Given the description of an element on the screen output the (x, y) to click on. 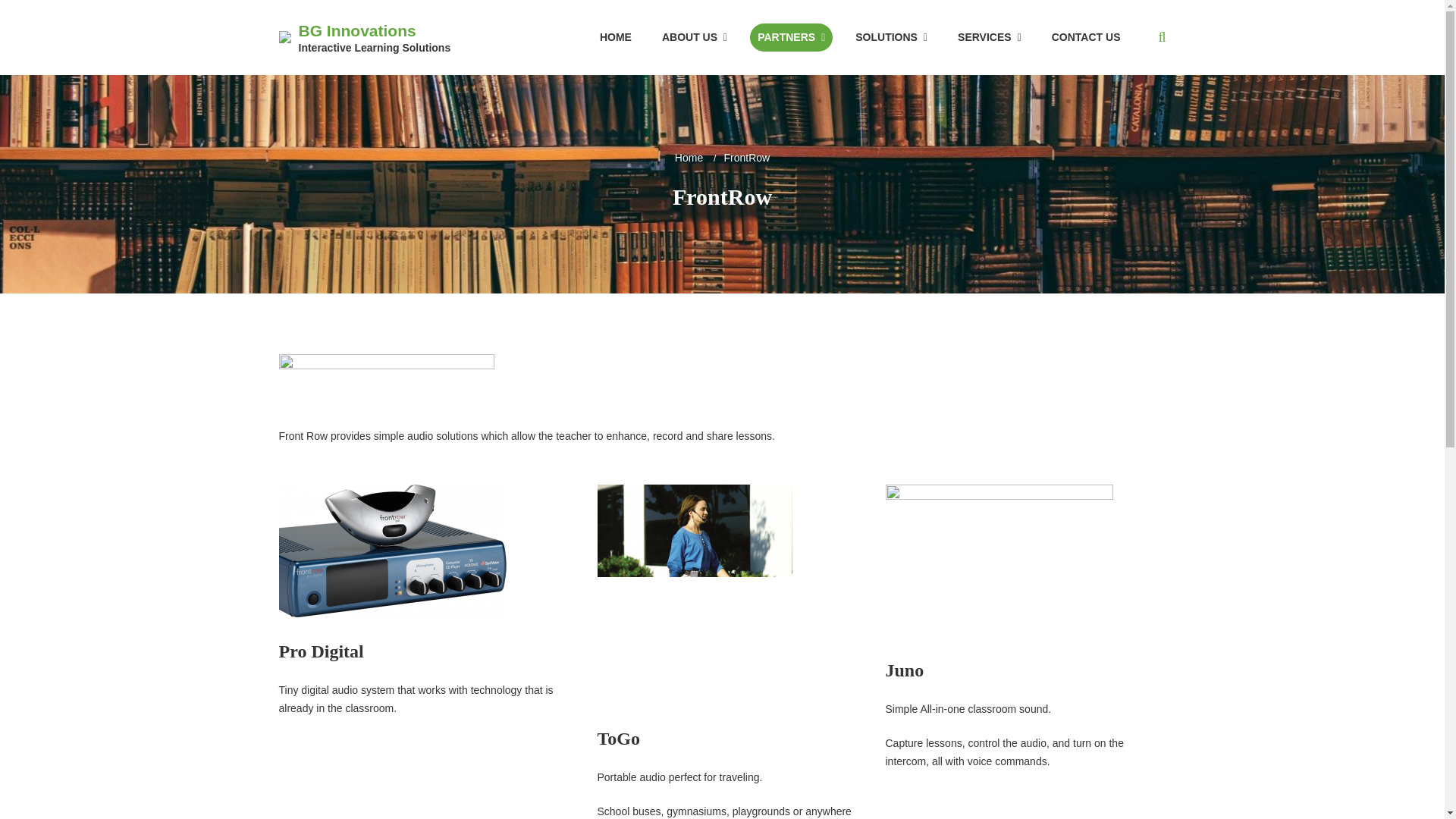
Home (689, 157)
HOME (615, 37)
BG Innovations (357, 29)
SOLUTIONS (890, 37)
PARTNERS (790, 37)
ABOUT US (694, 37)
